Given the description of an element on the screen output the (x, y) to click on. 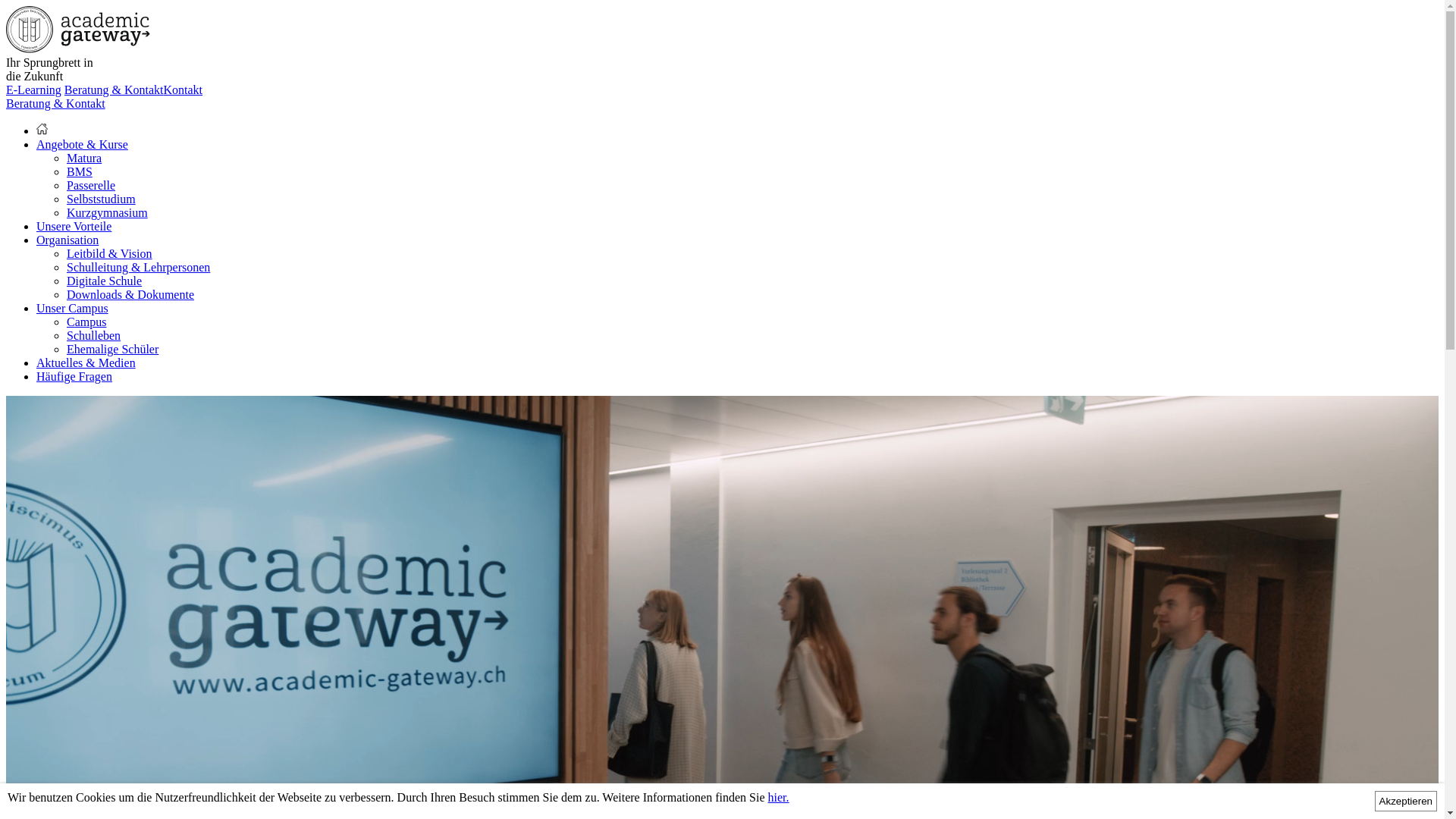
E-Learning Element type: text (33, 89)
Beratung & KontaktKontakt Element type: text (133, 89)
hier. Element type: text (778, 796)
Akzeptieren Element type: text (1405, 800)
Academic Gateway Element type: hover (78, 48)
Beratung & Kontakt Element type: text (55, 103)
Organisation Element type: text (67, 239)
Digitale Schule Element type: text (103, 280)
Unsere Vorteile Element type: text (73, 225)
Kurzgymnasium Element type: text (106, 212)
Home Element type: hover (41, 130)
Selbststudium Element type: text (100, 198)
Angebote & Kurse Element type: text (82, 144)
Matura Element type: text (83, 157)
Campus Element type: text (86, 321)
Aktuelles & Medien Element type: text (85, 362)
BMS Element type: text (79, 171)
Schulleben Element type: text (93, 335)
Downloads & Dokumente Element type: text (130, 294)
Unser Campus Element type: text (72, 307)
Leitbild & Vision Element type: text (109, 253)
Passerelle Element type: text (90, 184)
Schulleitung & Lehrpersonen Element type: text (138, 266)
